Given the description of an element on the screen output the (x, y) to click on. 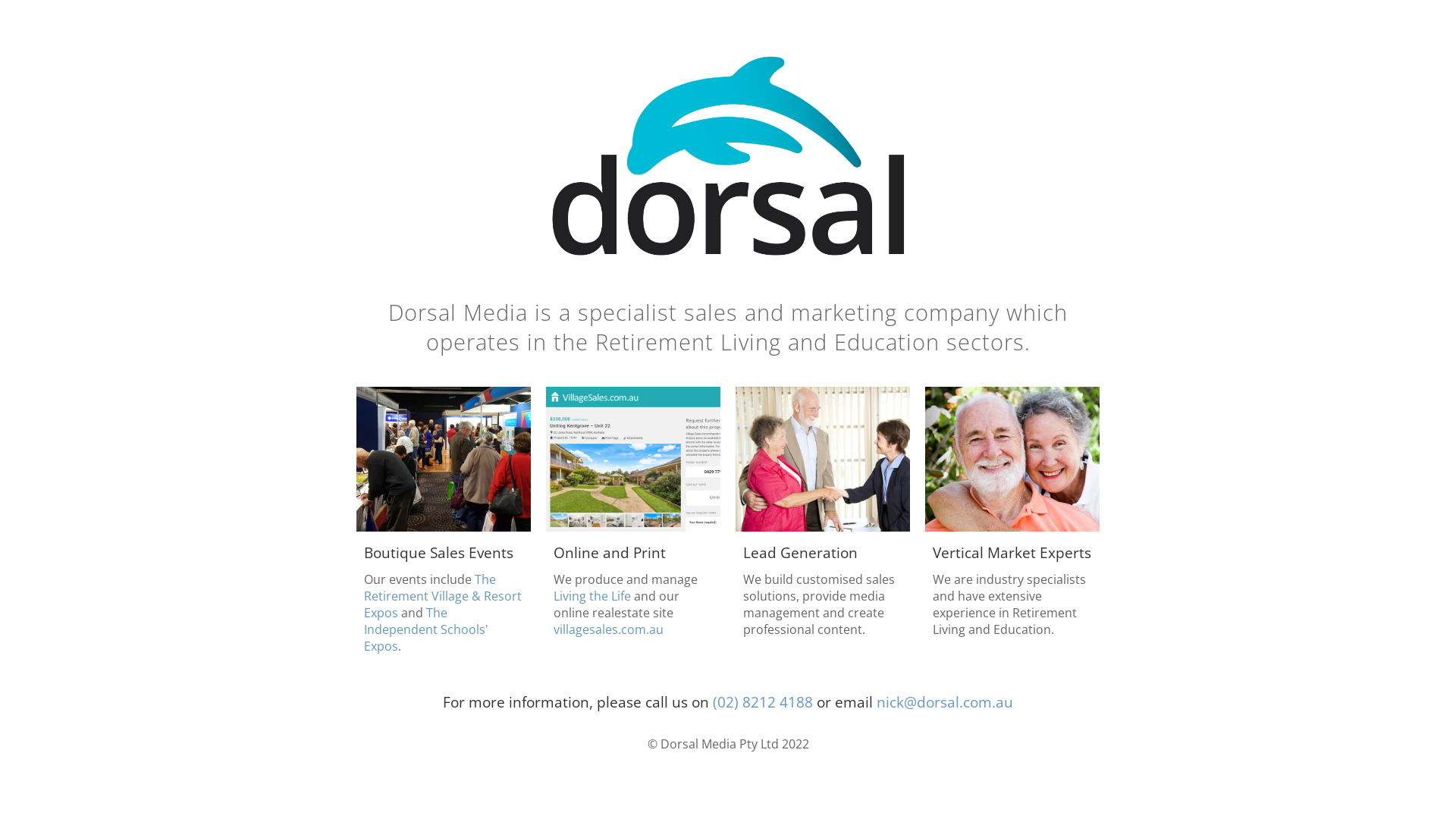
Village Sales Element type: hover (633, 526)
The Independent Schools' Expos Element type: text (426, 629)
(02) 8212 4188 Element type: text (762, 701)
The Retirement Village Expos Element type: hover (443, 526)
Contact Nick for more information Element type: hover (1012, 526)
nick@dorsal.com.au Element type: text (944, 701)
The Retirement Village & Resort Expos Element type: text (442, 596)
villagesales.com.au Element type: text (608, 629)
Contact Nick for more information Element type: hover (822, 526)
Living the Life Element type: text (591, 595)
